Given the description of an element on the screen output the (x, y) to click on. 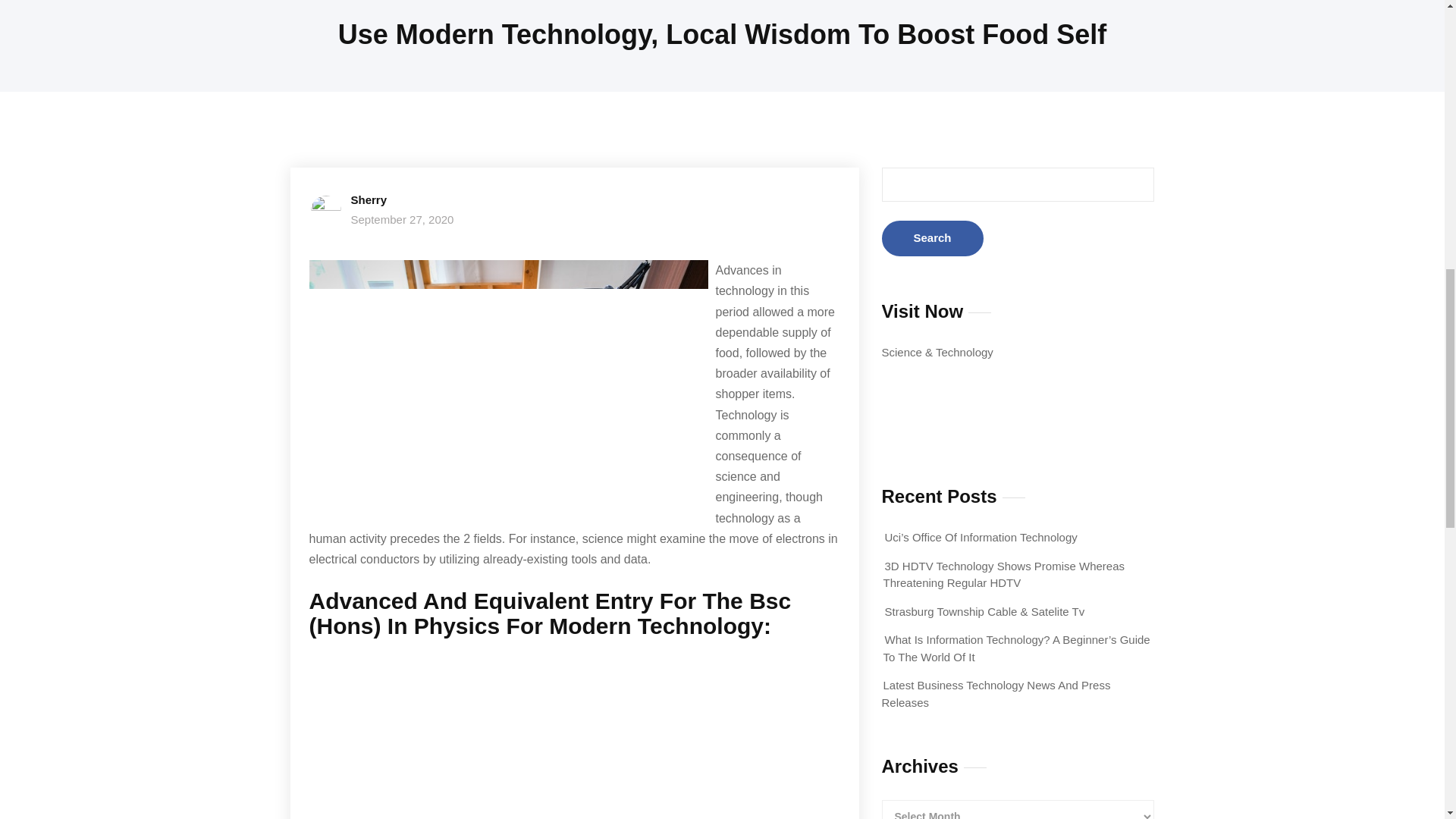
Sherry (368, 199)
Search (931, 238)
Search (931, 238)
September 27, 2020 (401, 219)
